Given the description of an element on the screen output the (x, y) to click on. 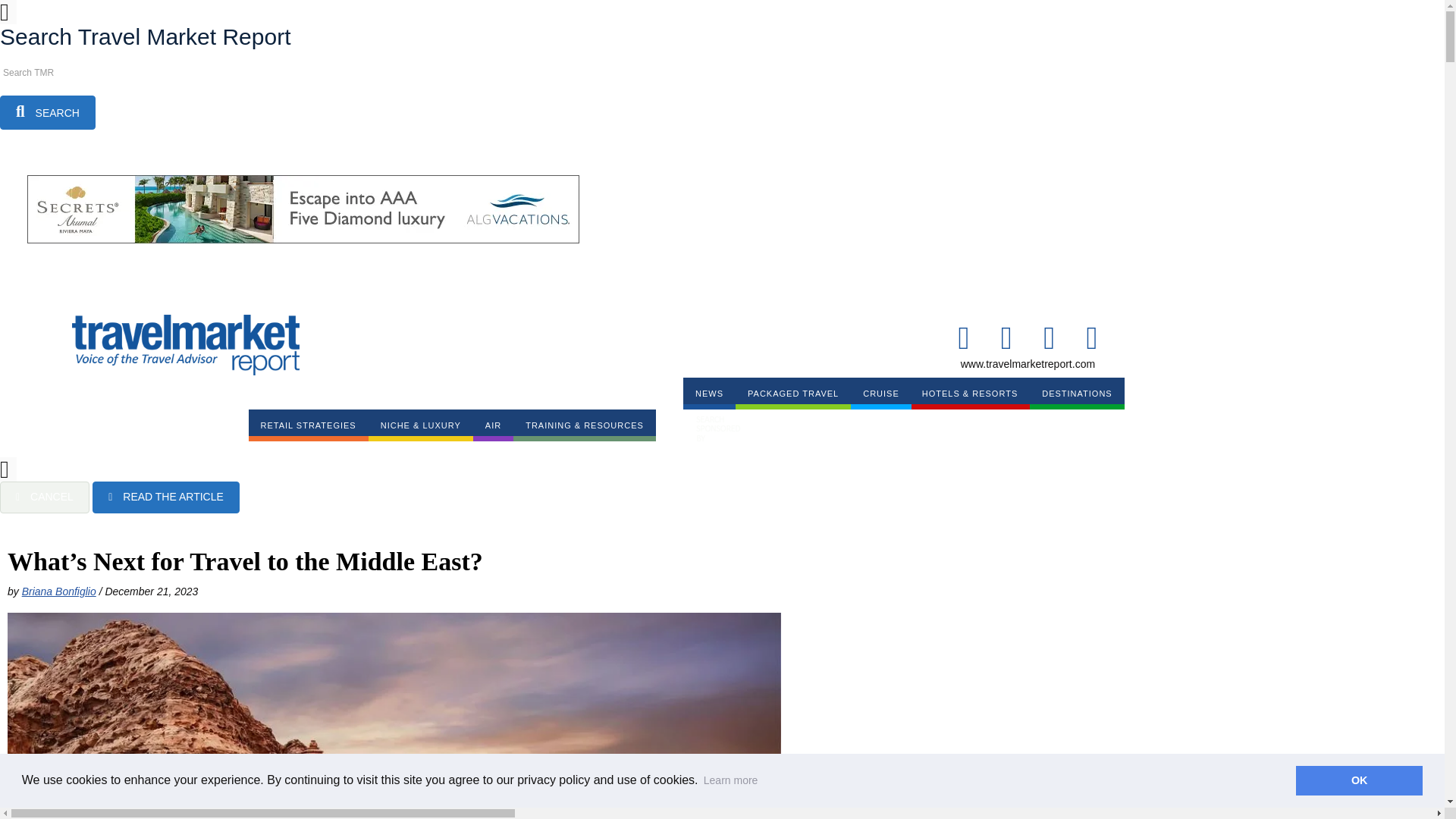
Briana Bonfiglio (58, 591)
CRUISE (880, 393)
NEWS (708, 393)
PACKAGED TRAVEL (792, 393)
CANCEL (44, 497)
AIR (493, 425)
RETAIL STRATEGIES (308, 425)
Search TMR (68, 72)
Search TMR (68, 72)
READ THE ARTICLE (166, 497)
Learn more (730, 780)
SEARCH (48, 112)
DESTINATIONS (1076, 393)
OK (1358, 780)
